Given the description of an element on the screen output the (x, y) to click on. 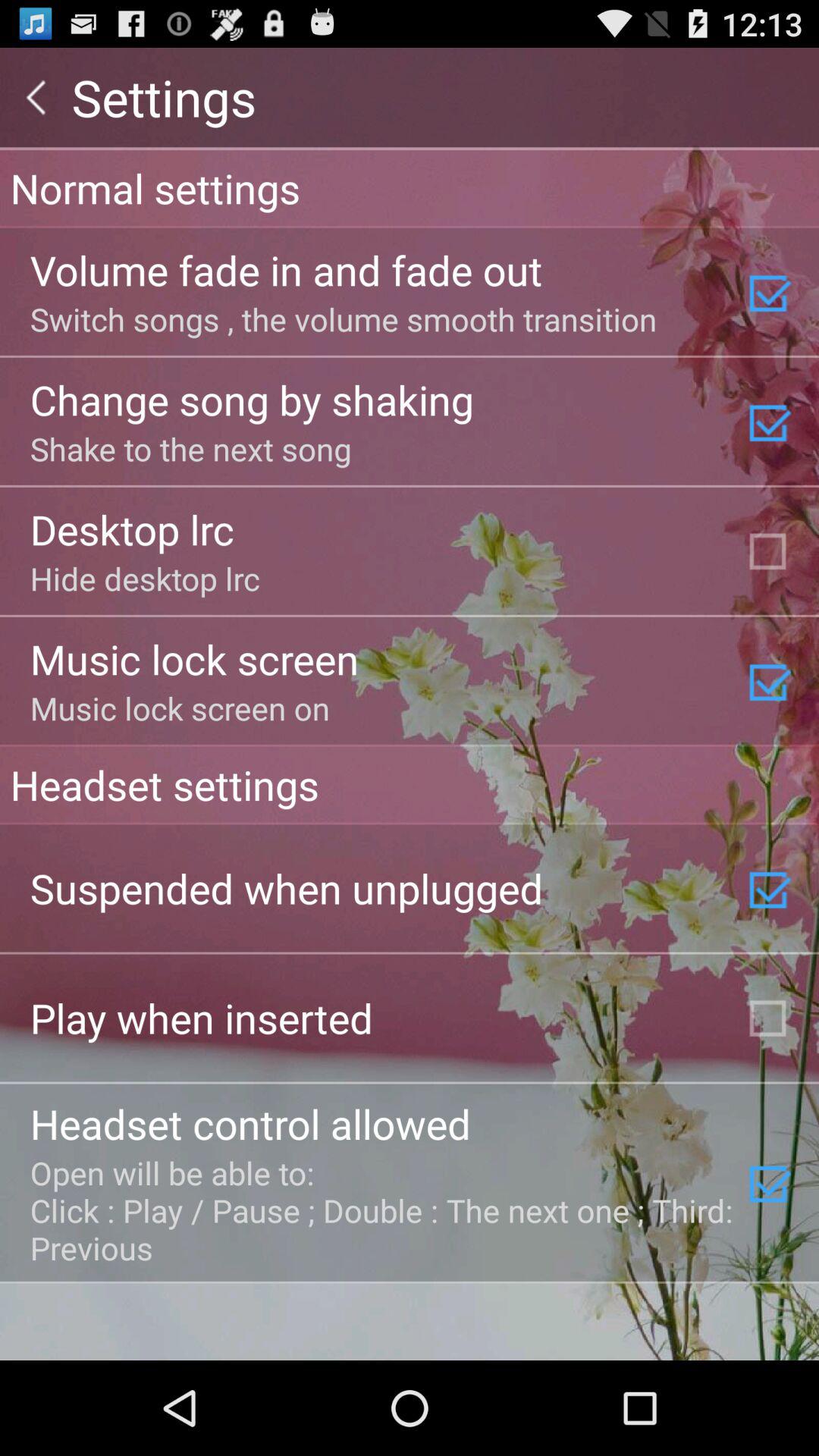
click item above the change song by (343, 318)
